Given the description of an element on the screen output the (x, y) to click on. 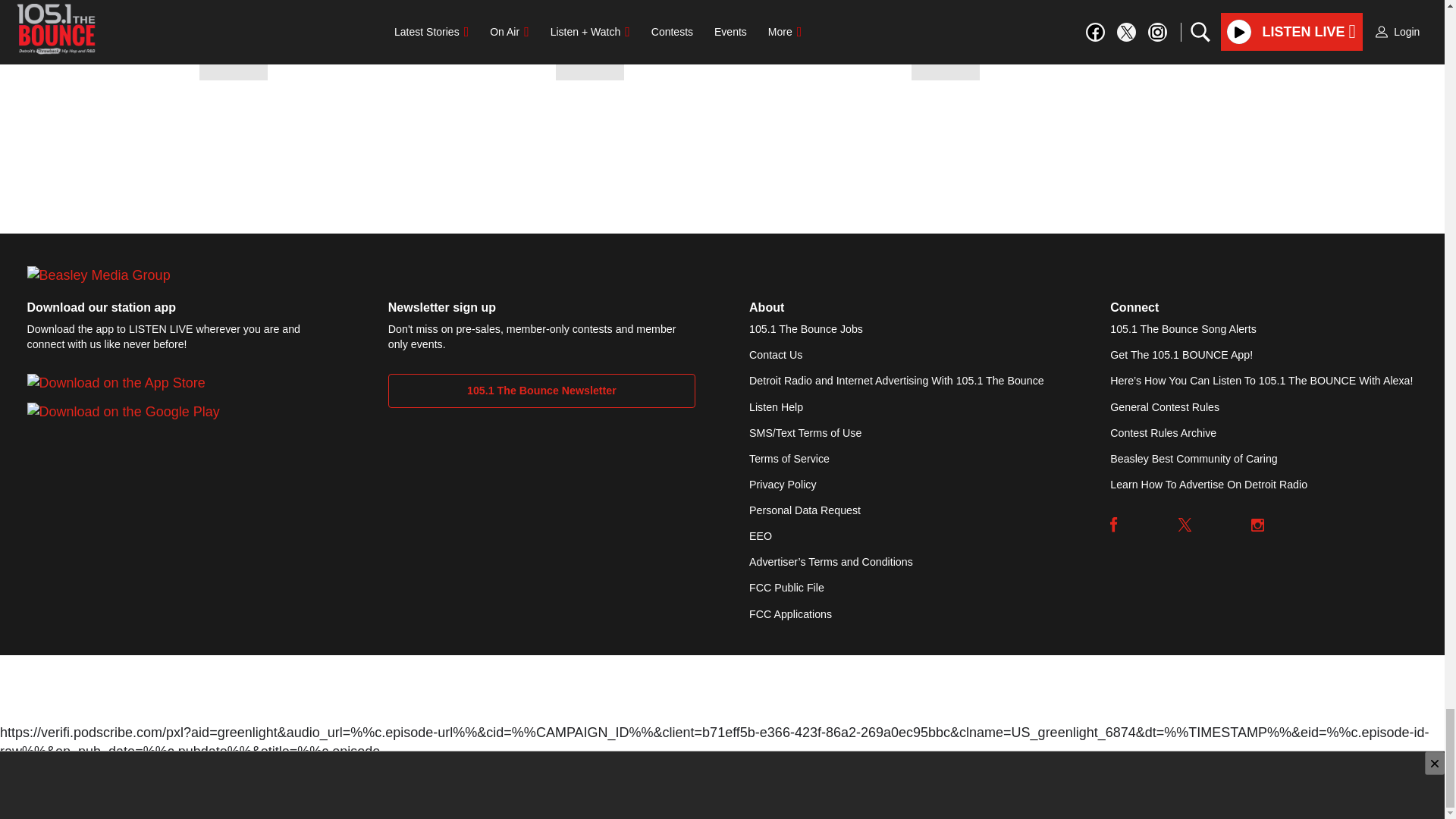
Instagram (1256, 524)
Twitter (1184, 524)
